Given the description of an element on the screen output the (x, y) to click on. 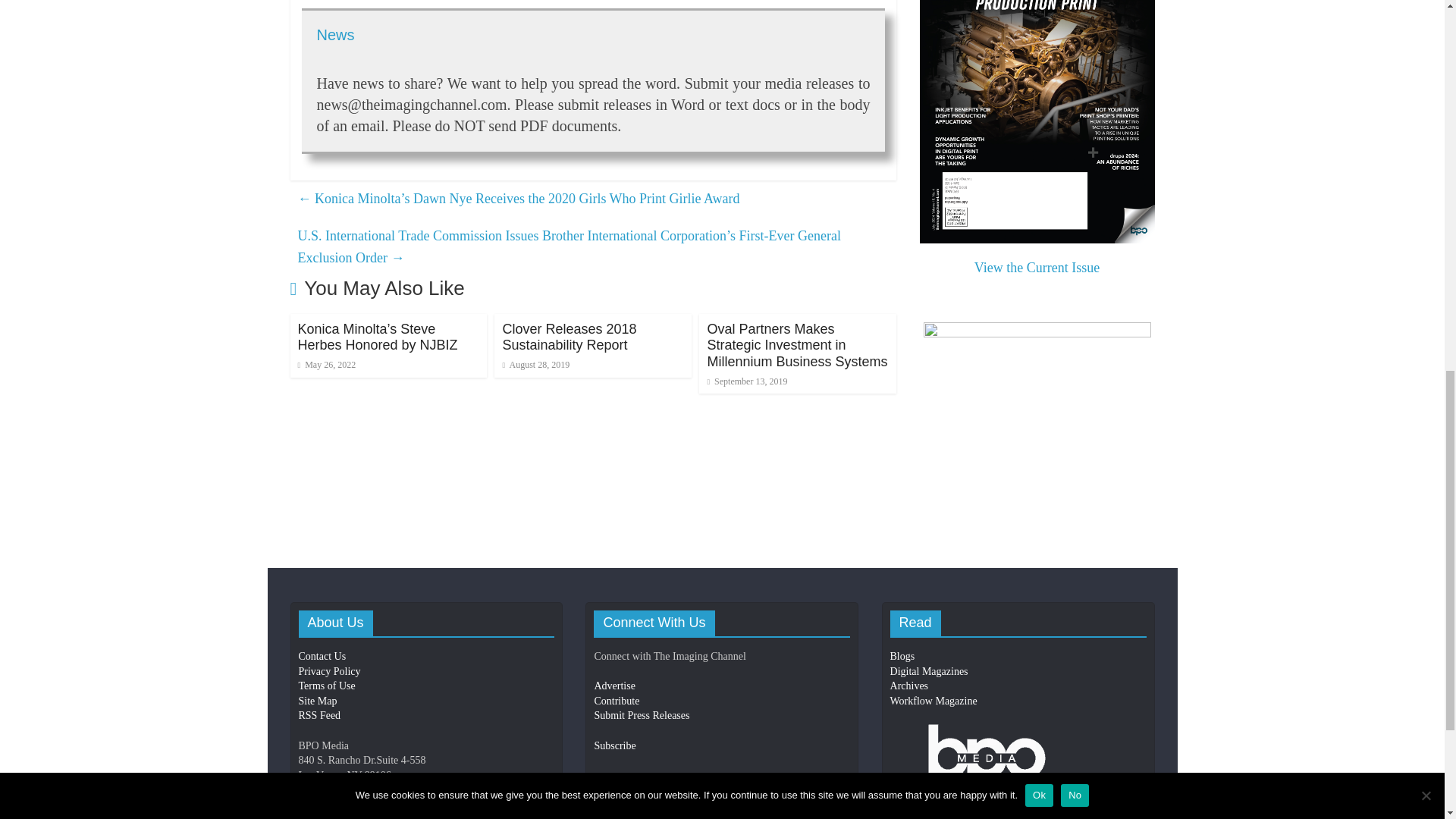
11:26 am (326, 364)
1:03 pm (535, 364)
Clover Releases 2018 Sustainability Report (569, 336)
